Given the description of an element on the screen output the (x, y) to click on. 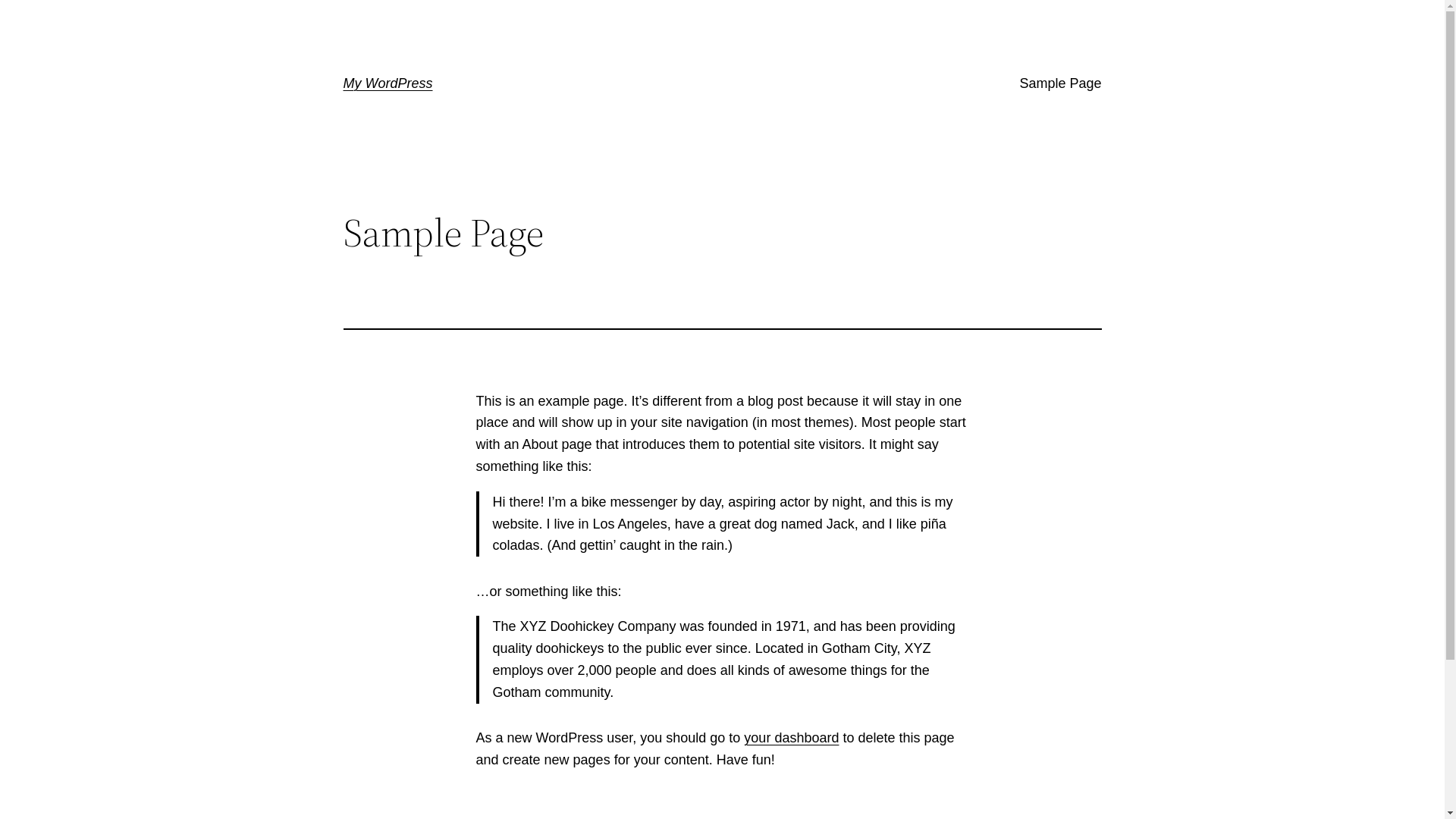
My WordPress Element type: text (387, 83)
Sample Page Element type: text (1060, 83)
your dashboard Element type: text (790, 737)
